Given the description of an element on the screen output the (x, y) to click on. 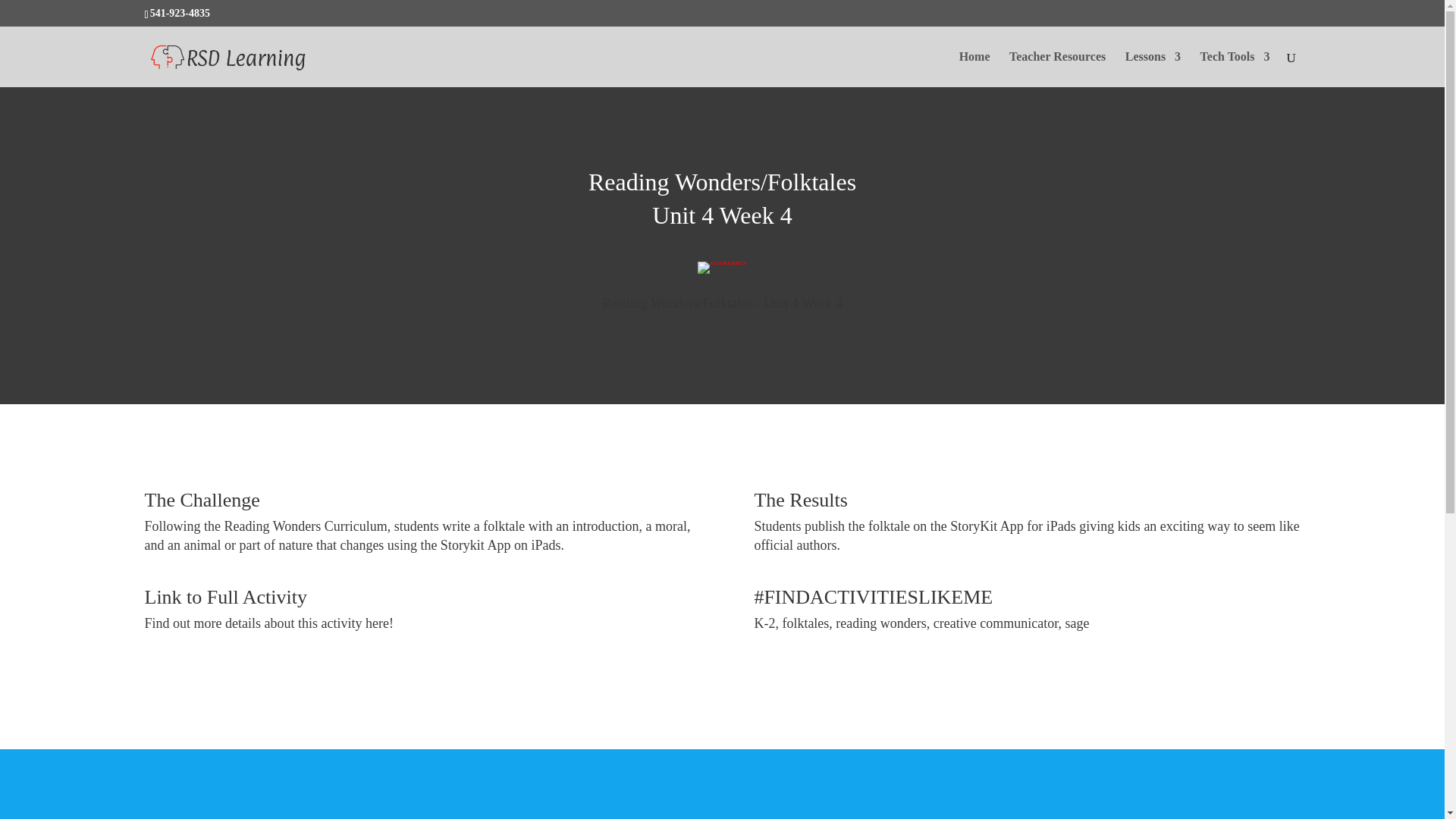
Tech Tools (1234, 68)
Link to Full Activity (225, 597)
Lessons (1152, 68)
Teacher Resources (1057, 68)
